Given the description of an element on the screen output the (x, y) to click on. 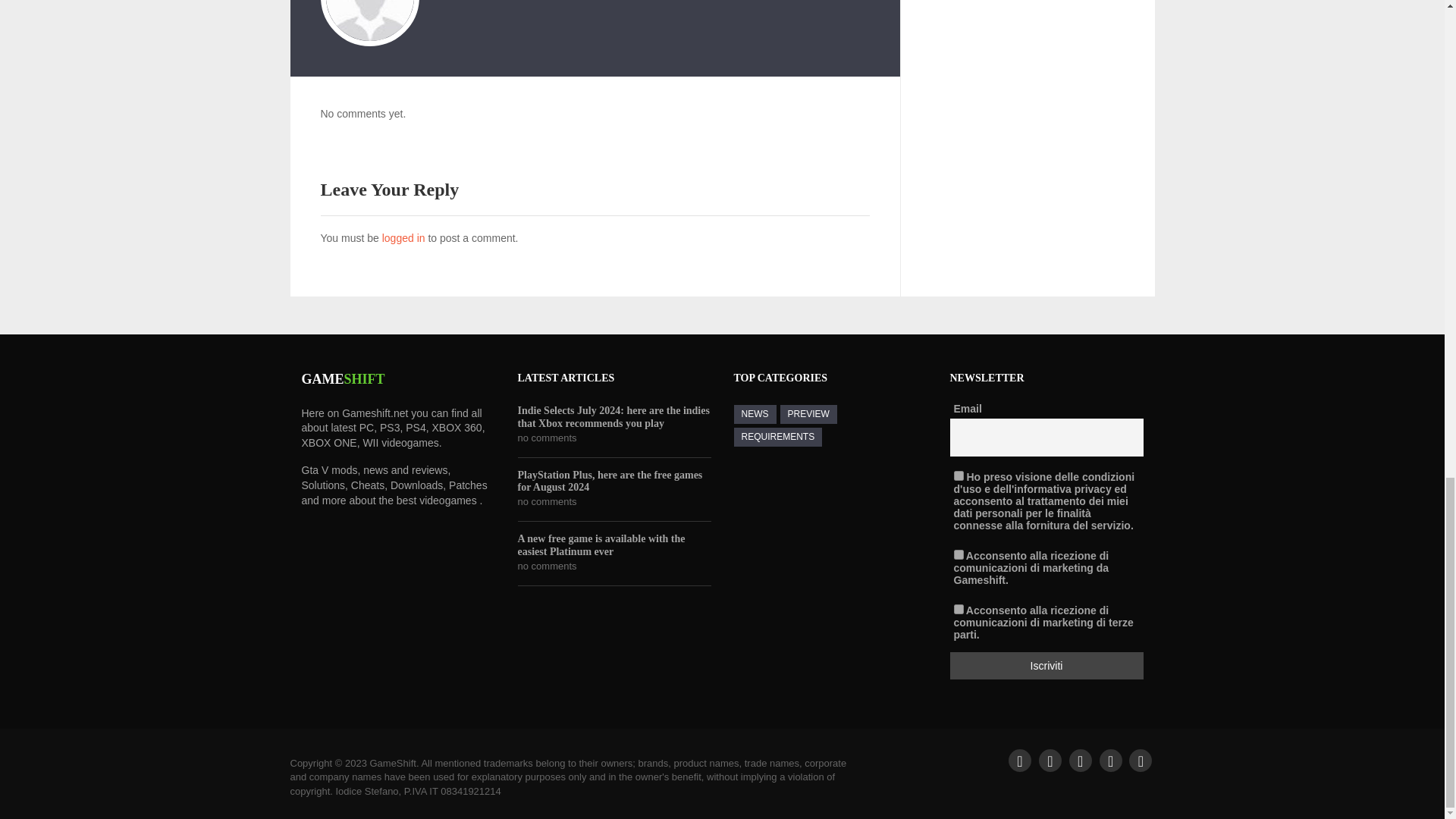
PREVIEW (806, 414)
on (958, 553)
Flickr (1140, 760)
on (958, 608)
Twitter (1050, 760)
PlayStation Plus, here are the free games for August 2024 (613, 481)
no comments (546, 566)
logged in (403, 237)
informativa privacy (1061, 488)
no comments (546, 501)
Dribbble (1080, 760)
A new free game is available with the easiest Platinum ever (613, 545)
NEWS (754, 414)
LinkedIn (1110, 760)
